Given the description of an element on the screen output the (x, y) to click on. 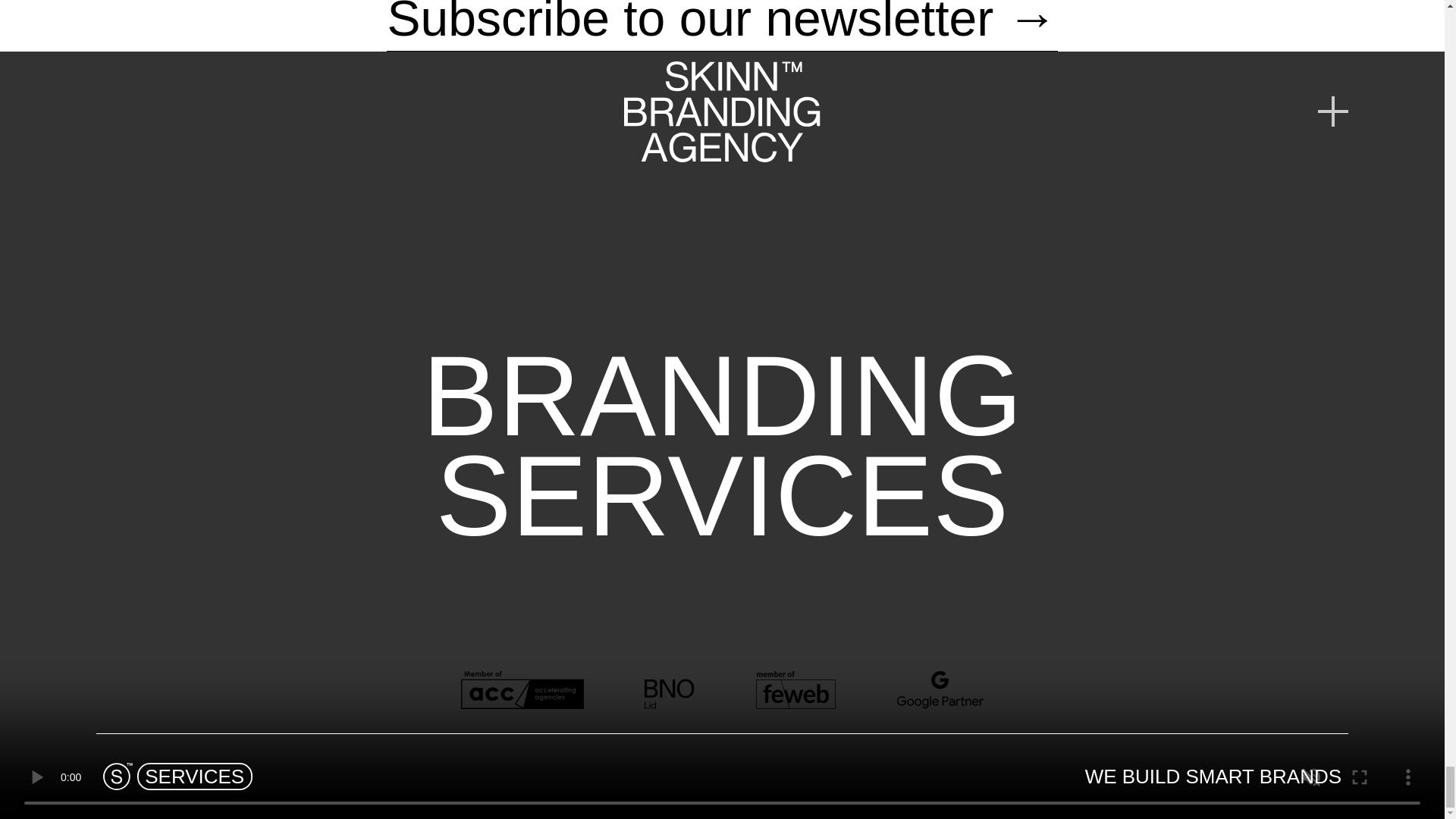
BNO (670, 689)
ACC (522, 689)
Google Partner (940, 689)
FeWeb (795, 689)
